Given the description of an element on the screen output the (x, y) to click on. 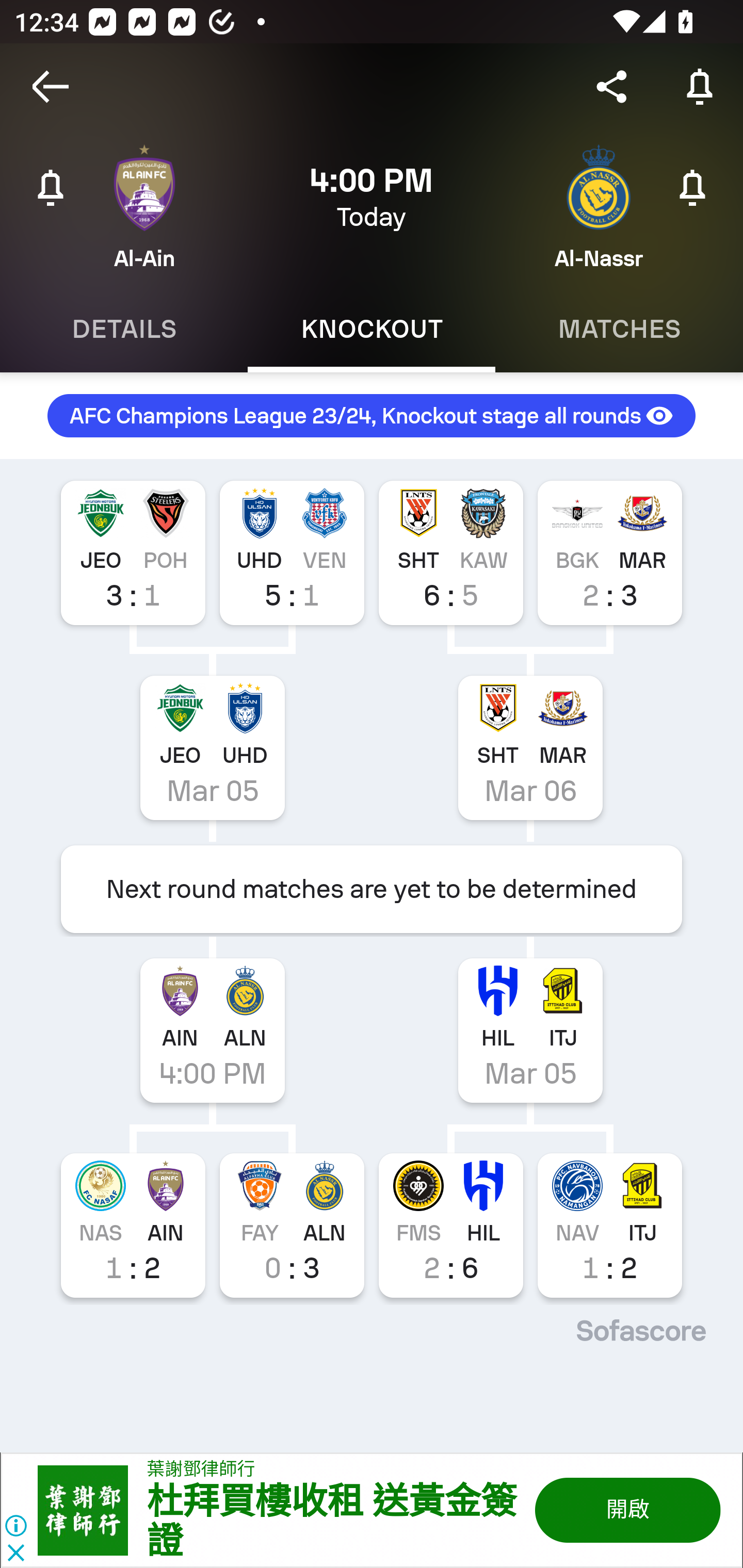
Navigate up (50, 86)
Details DETAILS (123, 329)
Matches MATCHES (619, 329)
葉謝鄧律師行 (200, 1469)
開啟 (626, 1509)
杜拜買樓收租 送黃金簽 證 杜拜買樓收租 送黃金簽 證 (330, 1521)
